Given the description of an element on the screen output the (x, y) to click on. 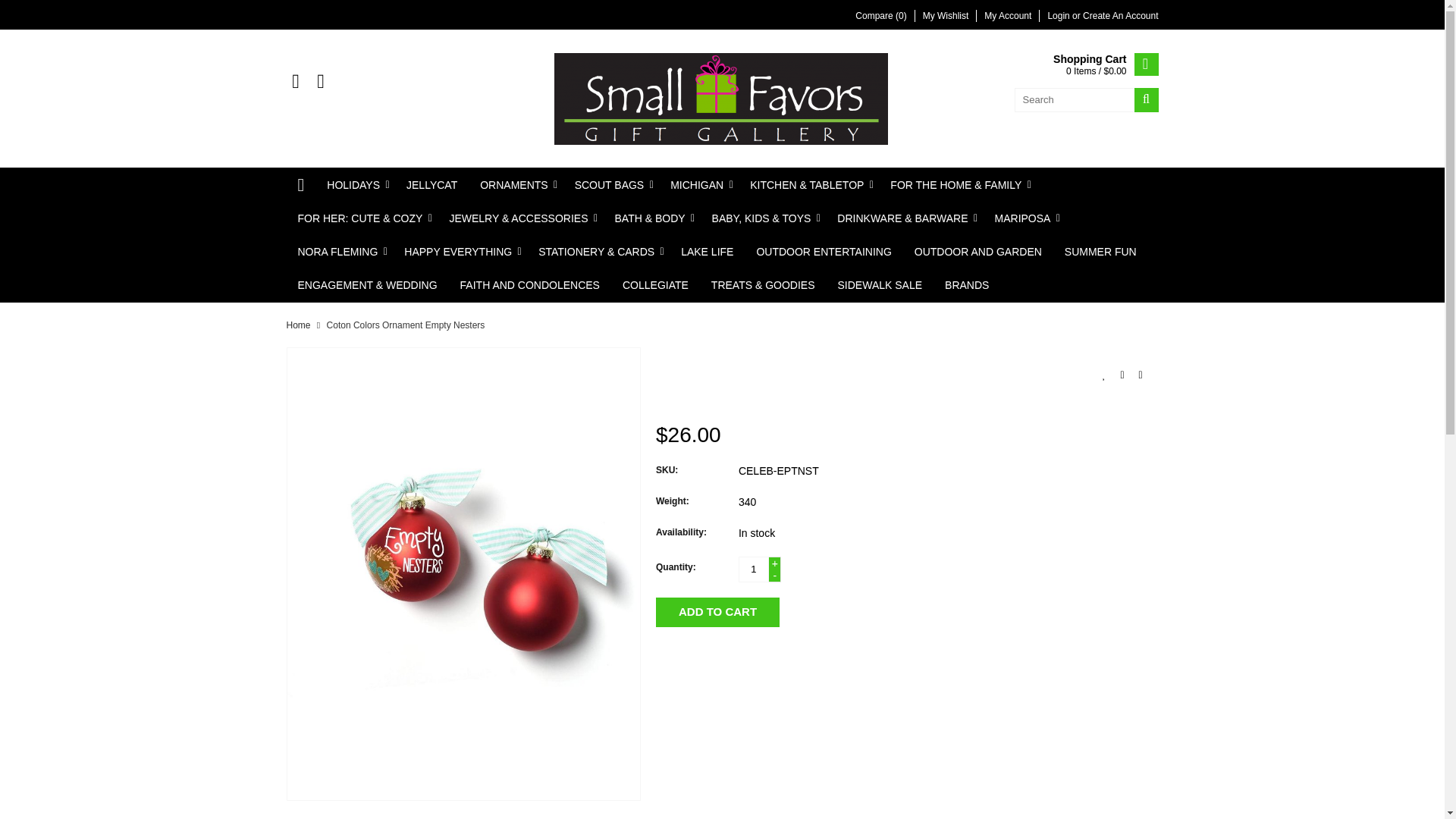
My Wishlist (946, 15)
My Account (1007, 15)
My account (1058, 15)
Search (1146, 99)
ORNAMENTS (515, 184)
Cart (1104, 64)
HOLIDAYS (354, 184)
Facebook Small Favors (295, 82)
Instagram Small Favors (320, 82)
My wishlist (946, 15)
JELLYCAT (431, 184)
Create An Account (1120, 15)
Holidays (354, 184)
Login (1058, 15)
1 (753, 569)
